Given the description of an element on the screen output the (x, y) to click on. 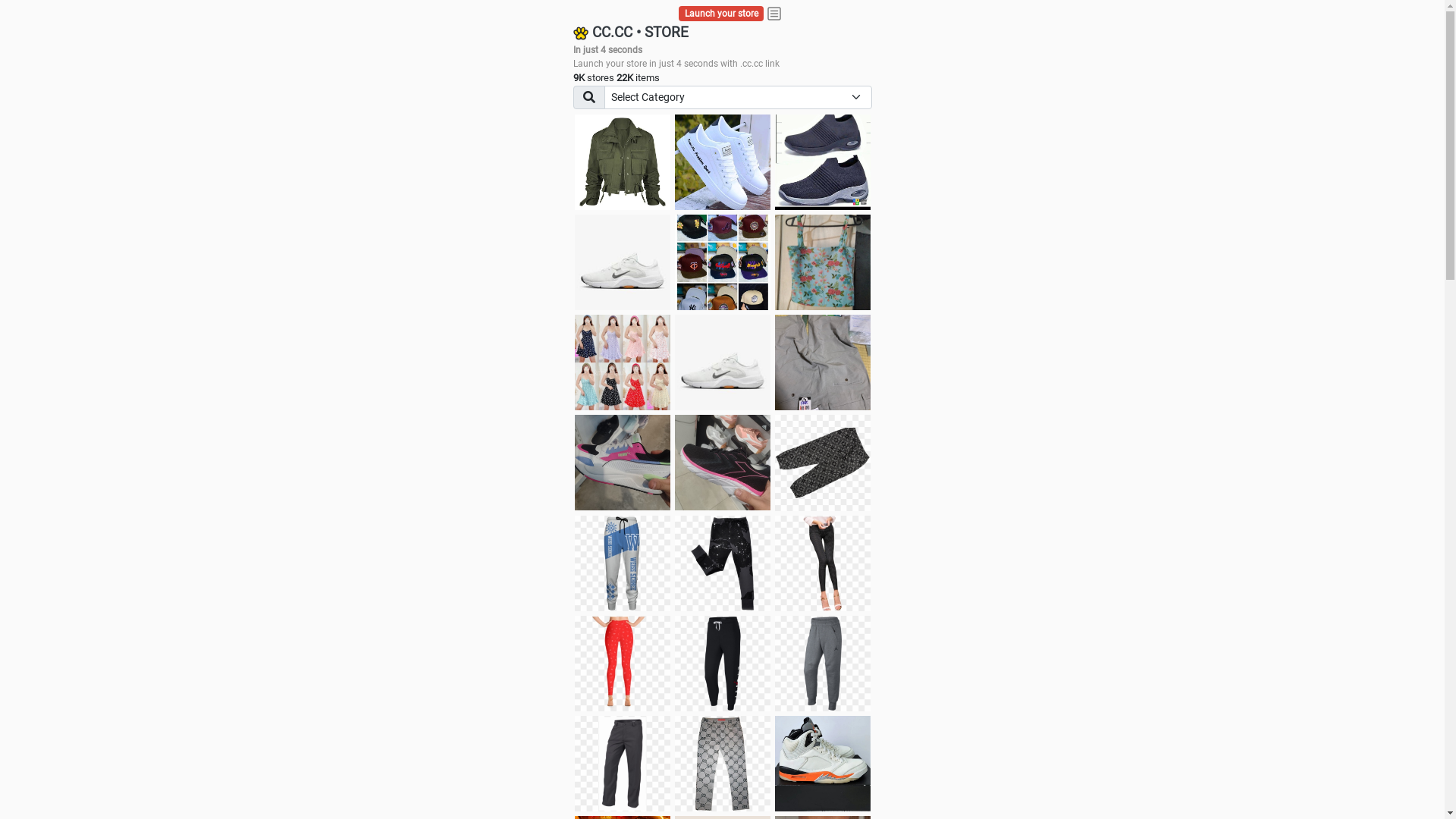
Dress/square nect top Element type: hover (622, 362)
white shoes Element type: hover (722, 162)
Shoes for boys Element type: hover (622, 262)
Short pant Element type: hover (822, 462)
Shoes Element type: hover (722, 362)
Pant Element type: hover (722, 563)
Zapatillas pumas Element type: hover (622, 462)
Pant Element type: hover (822, 663)
Pant Element type: hover (622, 763)
Things we need Element type: hover (722, 262)
Zapatillas Element type: hover (722, 462)
jacket Element type: hover (622, 162)
Shoe Element type: hover (822, 763)
Launch your store Element type: text (721, 13)
Pant Element type: hover (722, 763)
Pant Element type: hover (622, 663)
shoes for boys Element type: hover (822, 162)
Pant Element type: hover (822, 563)
Pant Element type: hover (622, 563)
Pant Element type: hover (722, 663)
Ukay cloth Element type: hover (822, 262)
